Given the description of an element on the screen output the (x, y) to click on. 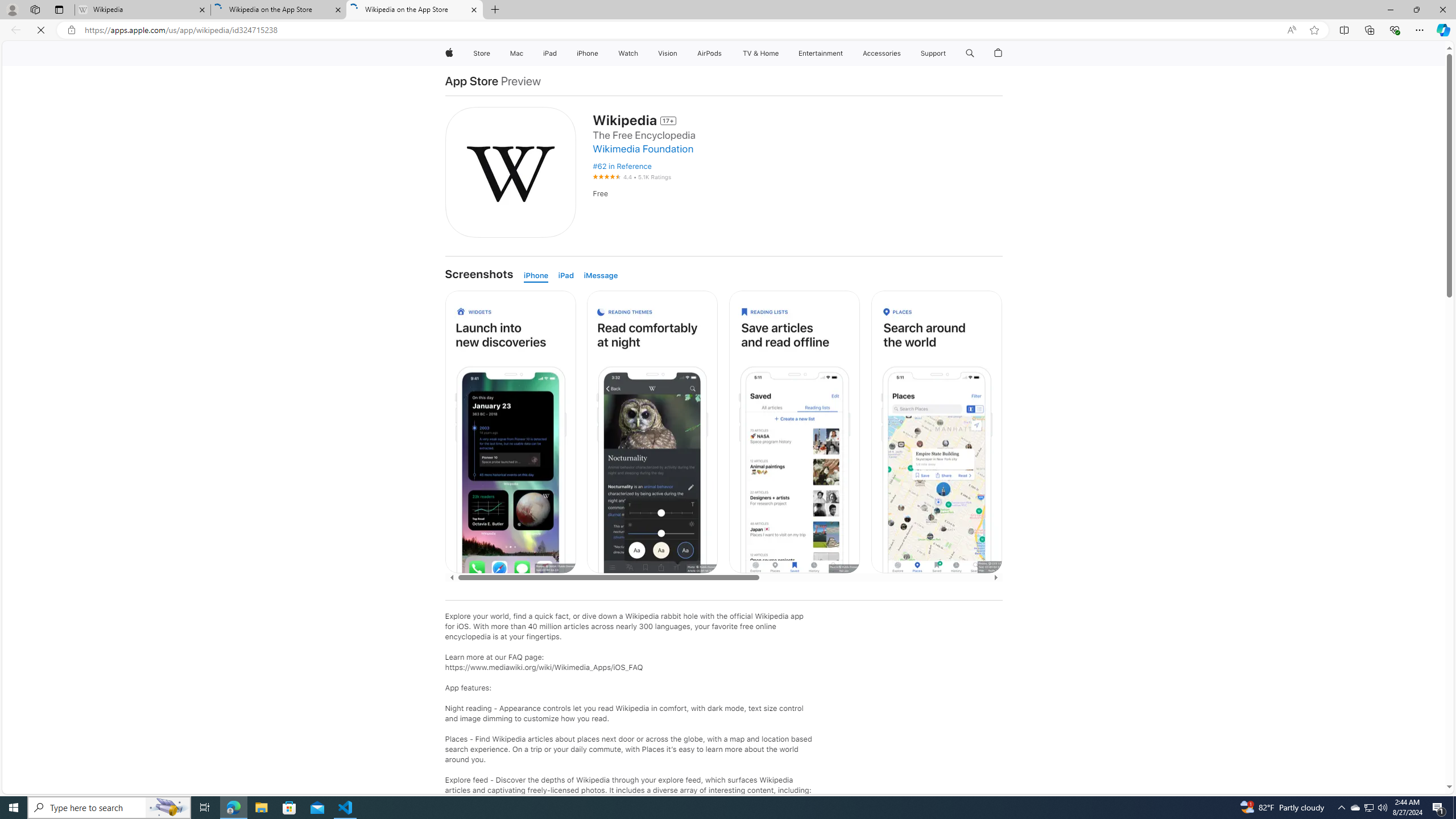
iPad (568, 275)
Shopping Bag (998, 53)
